Given the description of an element on the screen output the (x, y) to click on. 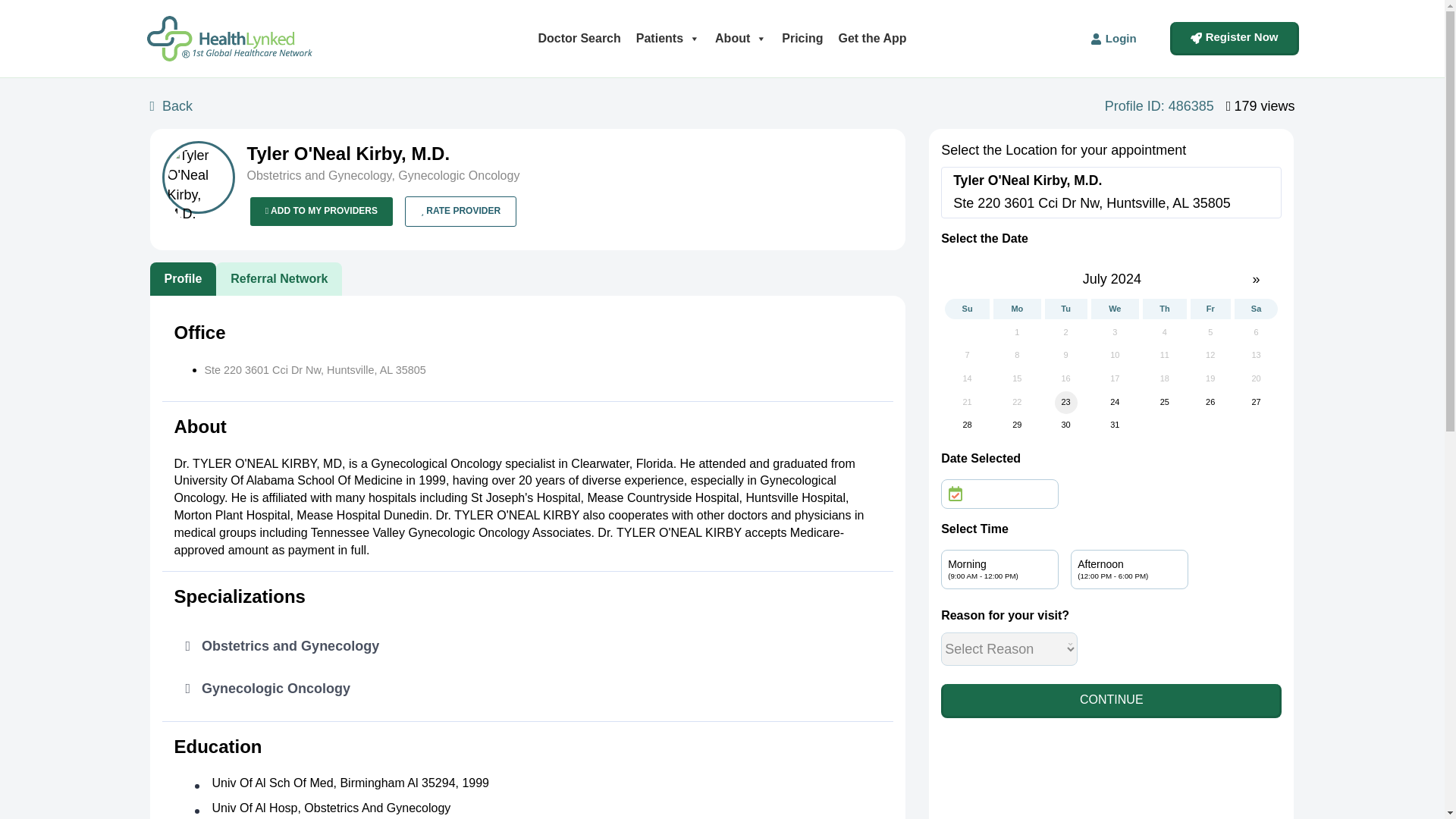
Pricing (801, 38)
Referral Network (278, 279)
Profile (182, 279)
Register Now (1234, 38)
Back (173, 106)
Get the App (871, 38)
CONTINUE (1110, 700)
RATE PROVIDER (460, 211)
About (740, 38)
Doctor Search (578, 38)
ADD TO MY PROVIDERS (321, 211)
Login (1112, 38)
Patients (667, 38)
